Given the description of an element on the screen output the (x, y) to click on. 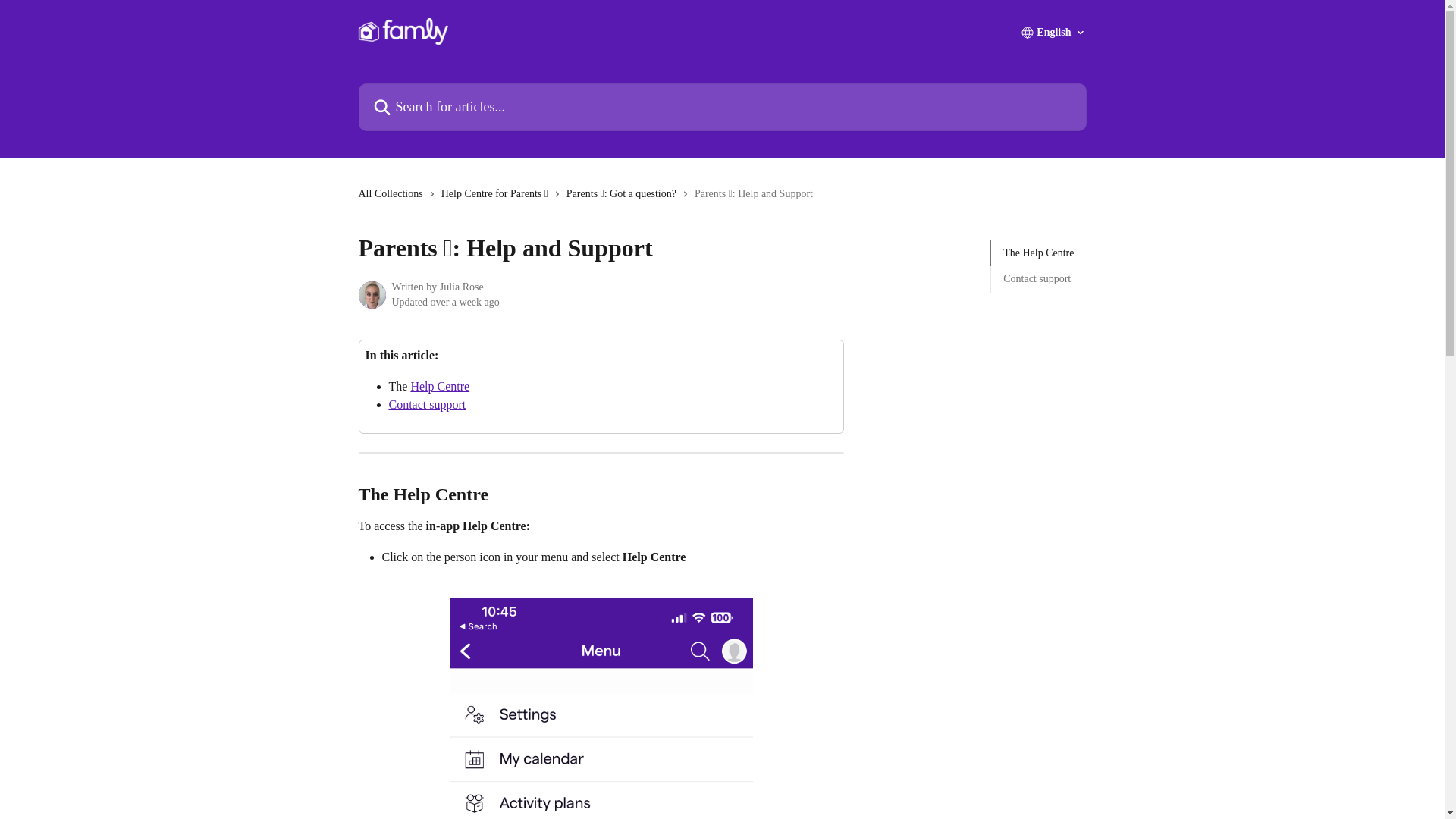
Help Centre (439, 386)
All Collections (393, 193)
The Help Centre (1038, 252)
Contact support (1038, 279)
Contact support (426, 404)
